Given the description of an element on the screen output the (x, y) to click on. 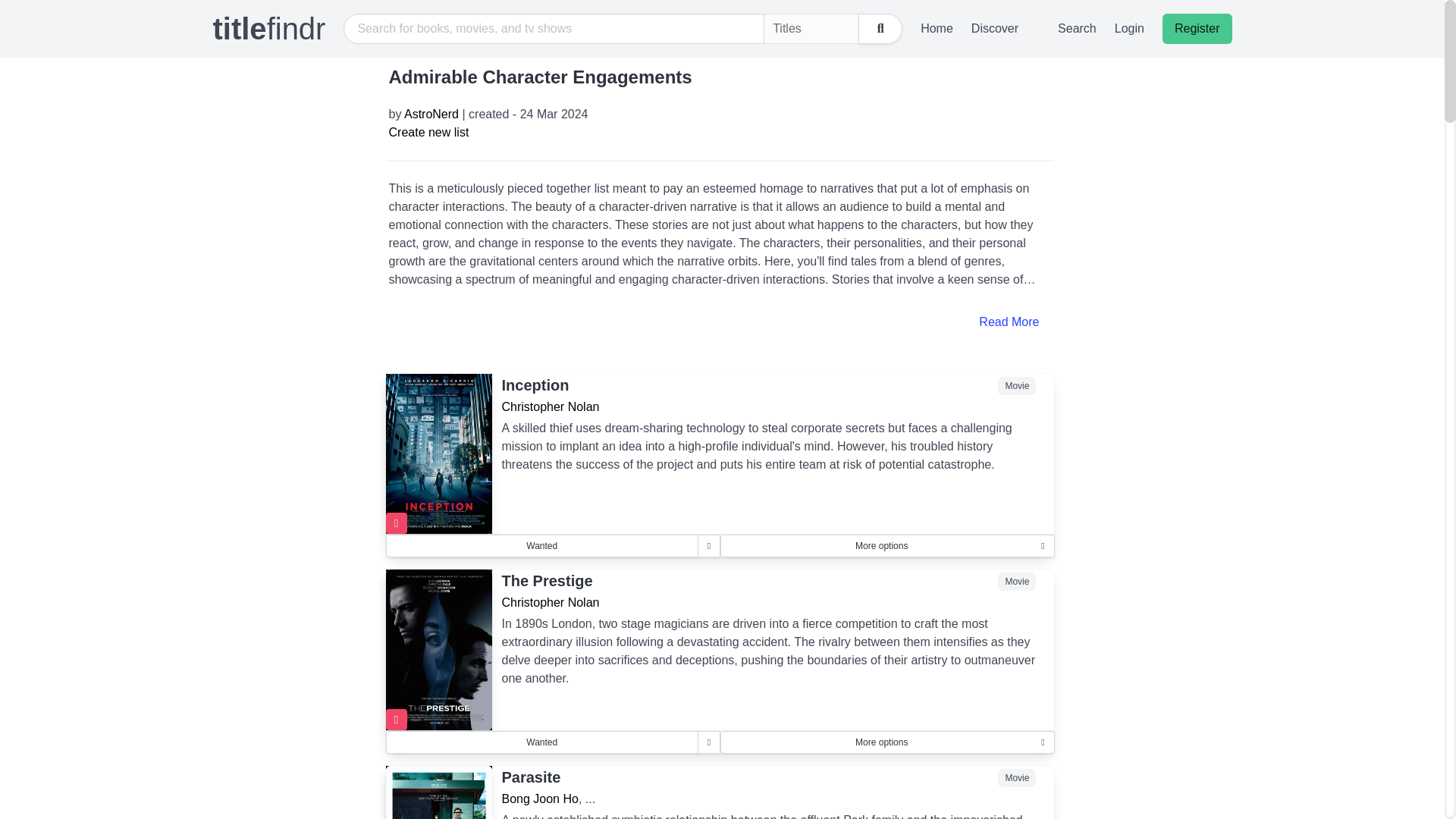
Search (880, 28)
Login is required to add to favorites (395, 522)
Christopher Nolan (549, 406)
go to create new list (428, 132)
Search (1076, 28)
Register a new account (1196, 28)
AstroNerd (431, 113)
Go to AstroNerd user profile (431, 113)
Go to Search Page (1076, 28)
Discover new titles (1005, 28)
Christopher Nolan (549, 602)
Read More (719, 322)
Wanted (541, 742)
Login is required to set status (541, 545)
Register (1196, 28)
